Given the description of an element on the screen output the (x, y) to click on. 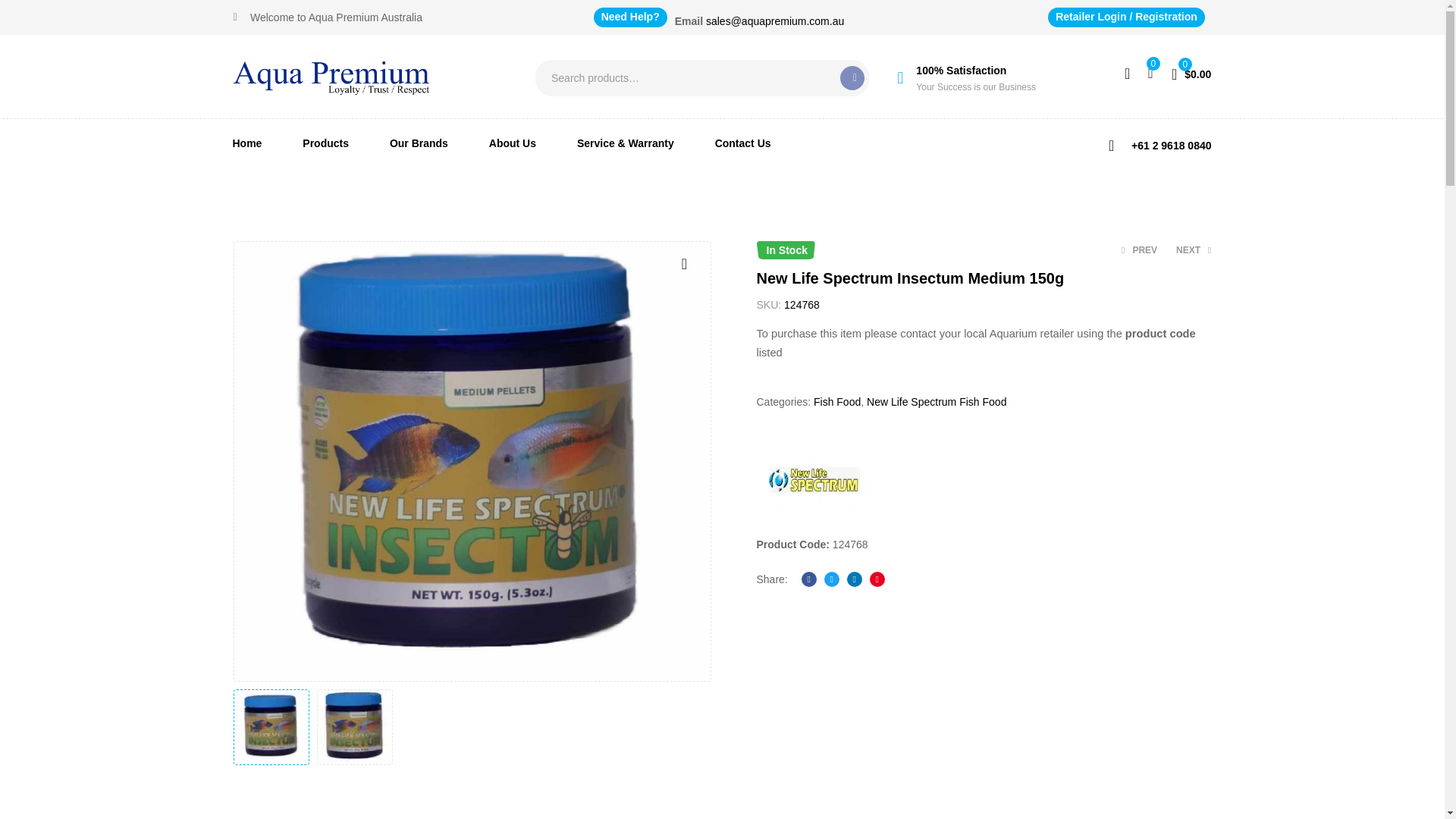
New Life Spectrum (813, 478)
Share on LinkedIn (854, 579)
Share on facebook (809, 579)
Search (852, 78)
View your shopping cart (1191, 72)
Need Help? (630, 17)
Welcome to Aqua Premium Australia (327, 17)
Share on Twitter (832, 579)
Share on Pinterest (877, 579)
